Given the description of an element on the screen output the (x, y) to click on. 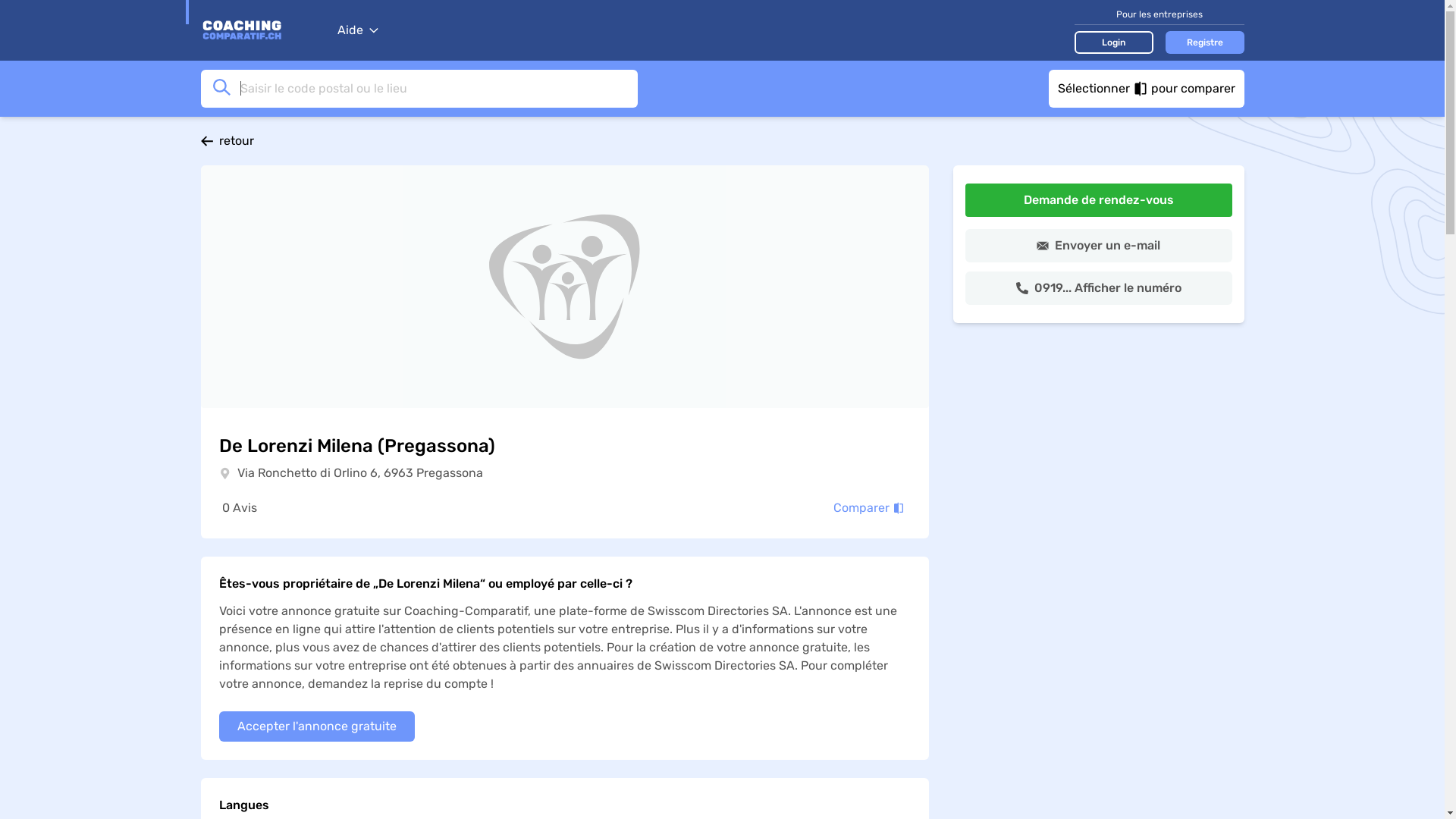
Demande de rendez-vous Element type: text (1097, 199)
Envoyer un e-mail Element type: text (1097, 245)
Accepter l'annonce gratuite Element type: text (316, 726)
Aide Element type: text (356, 30)
Login Element type: text (1112, 41)
Registre Element type: text (1203, 41)
retour Element type: text (721, 140)
Via Ronchetto di Orlino 6, 6963 Pregassona Element type: text (359, 472)
Comparer Element type: text (868, 507)
